Given the description of an element on the screen output the (x, y) to click on. 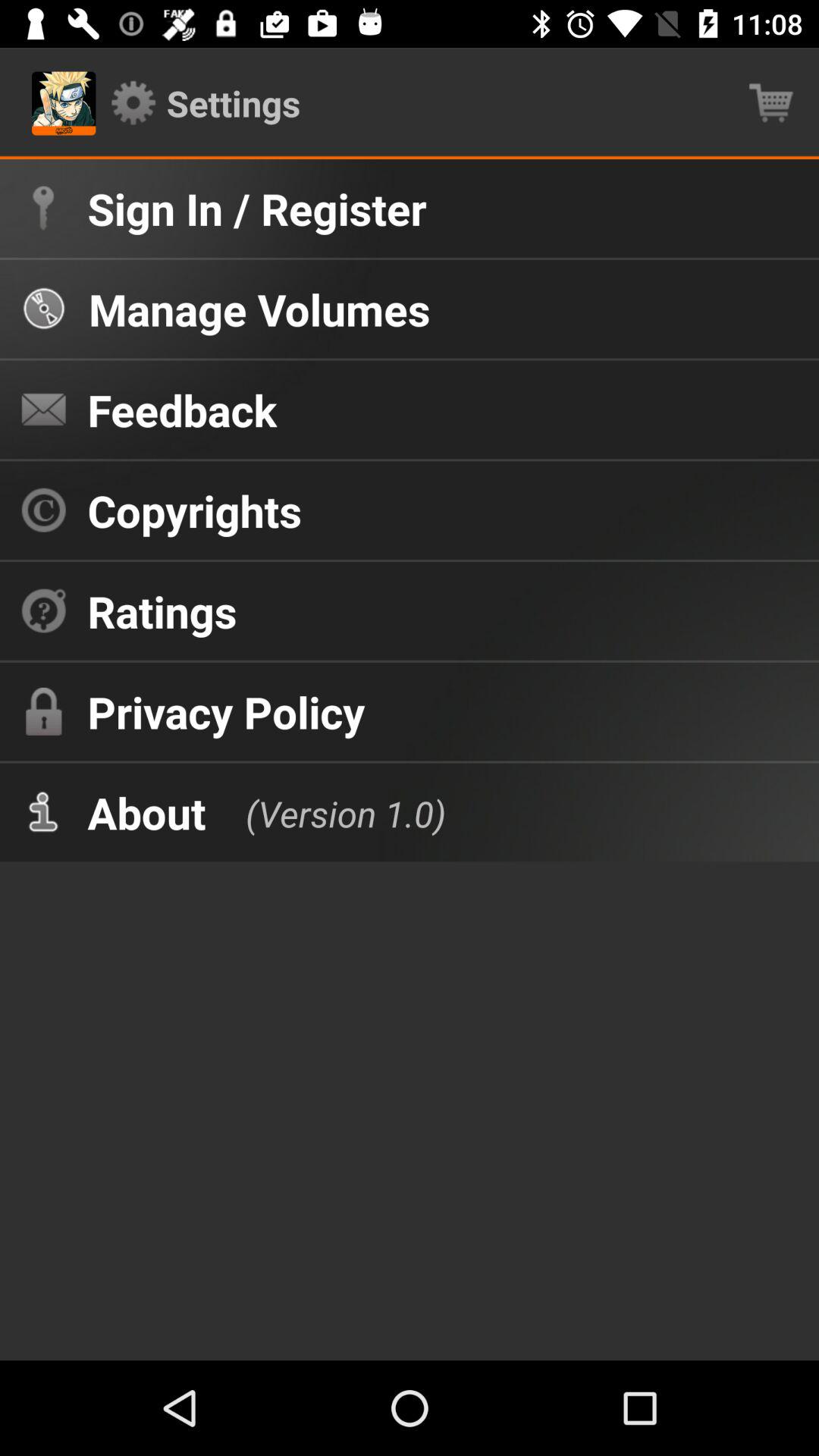
open icon below the sign in / register (259, 308)
